Given the description of an element on the screen output the (x, y) to click on. 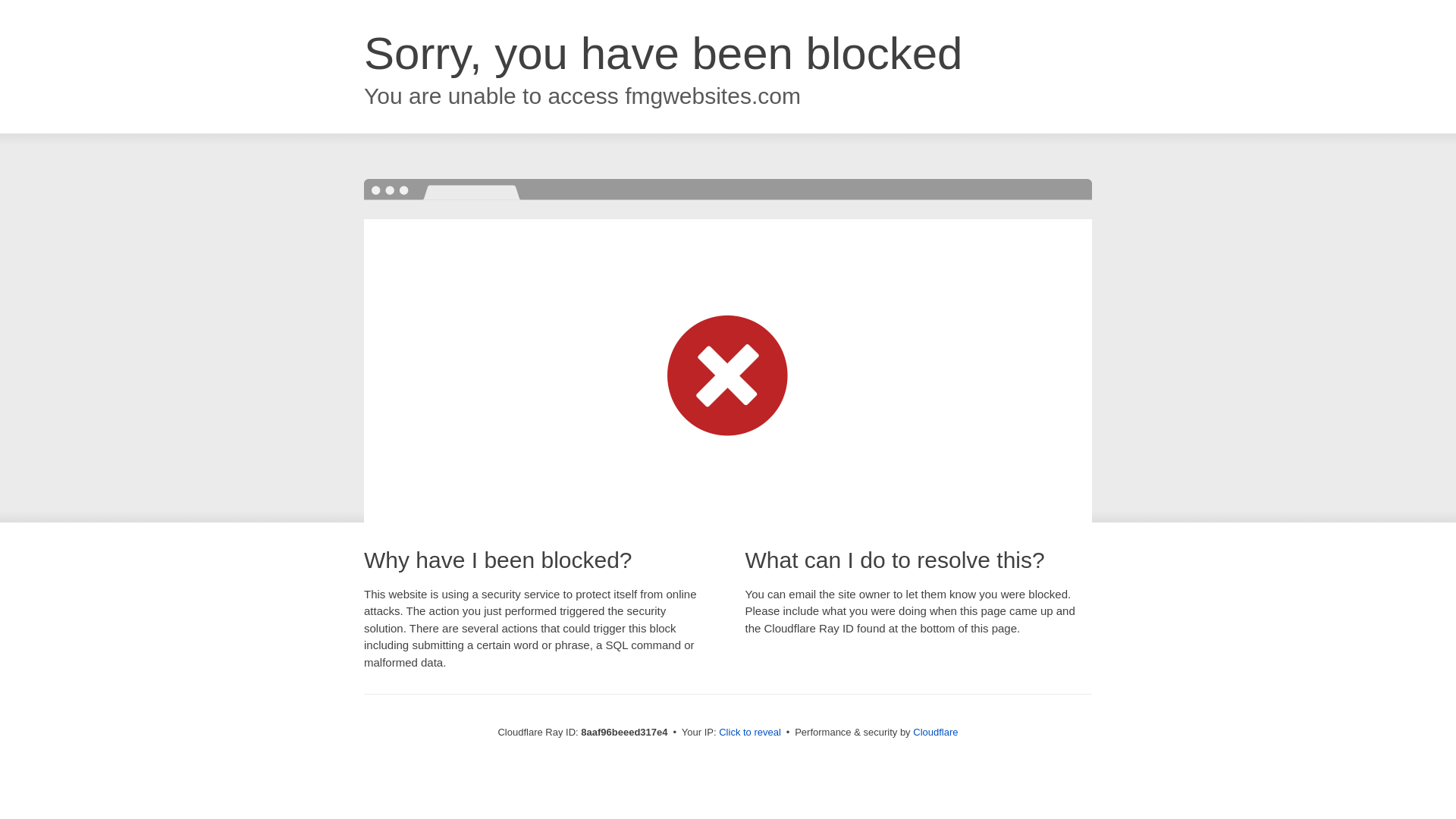
Cloudflare (935, 731)
Click to reveal (749, 732)
